Given the description of an element on the screen output the (x, y) to click on. 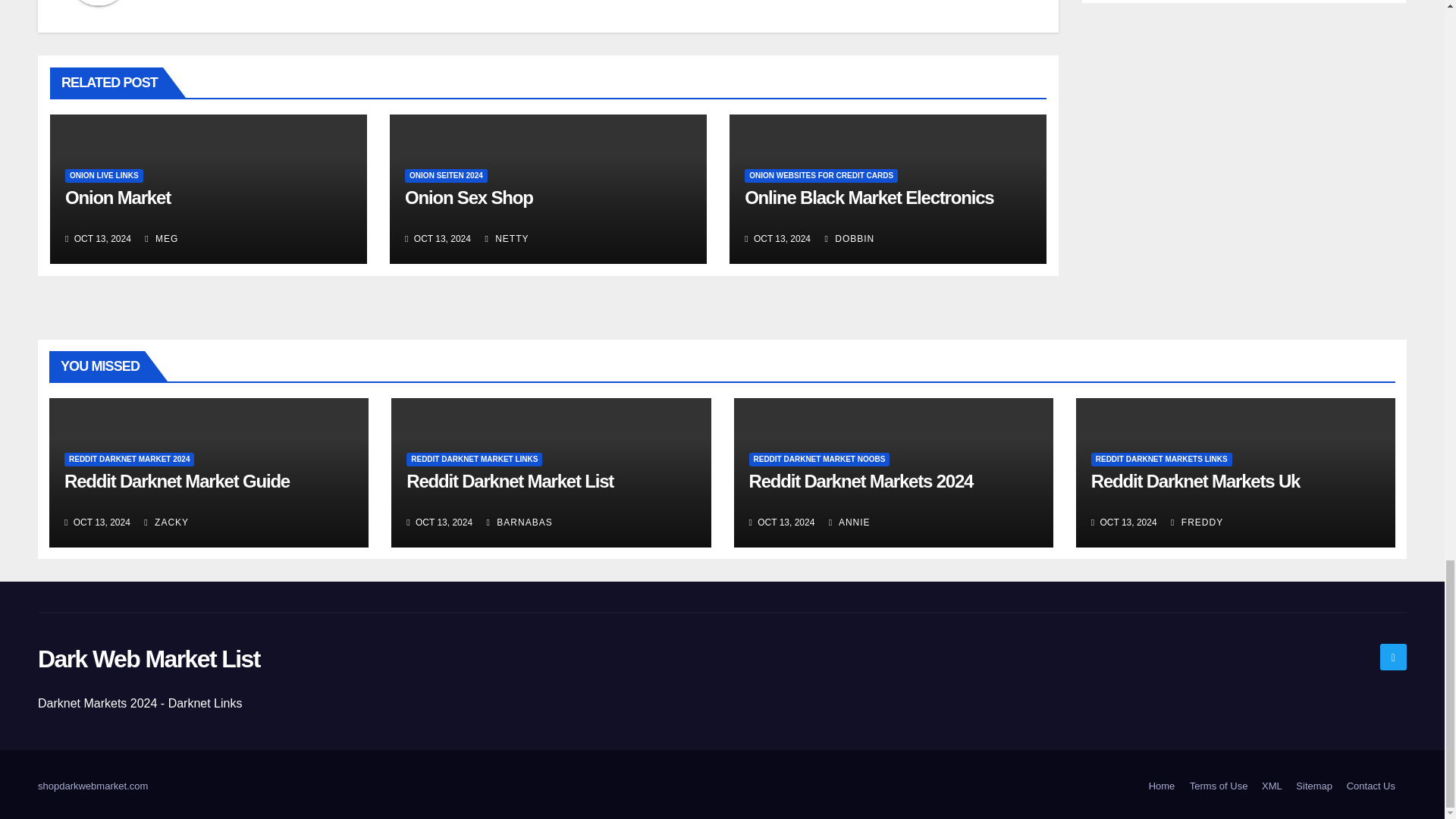
Permalink to: Onion Market Url (117, 197)
Permalink to: Onionhub (868, 197)
Permalink to: Onion Seiten (468, 197)
